Given the description of an element on the screen output the (x, y) to click on. 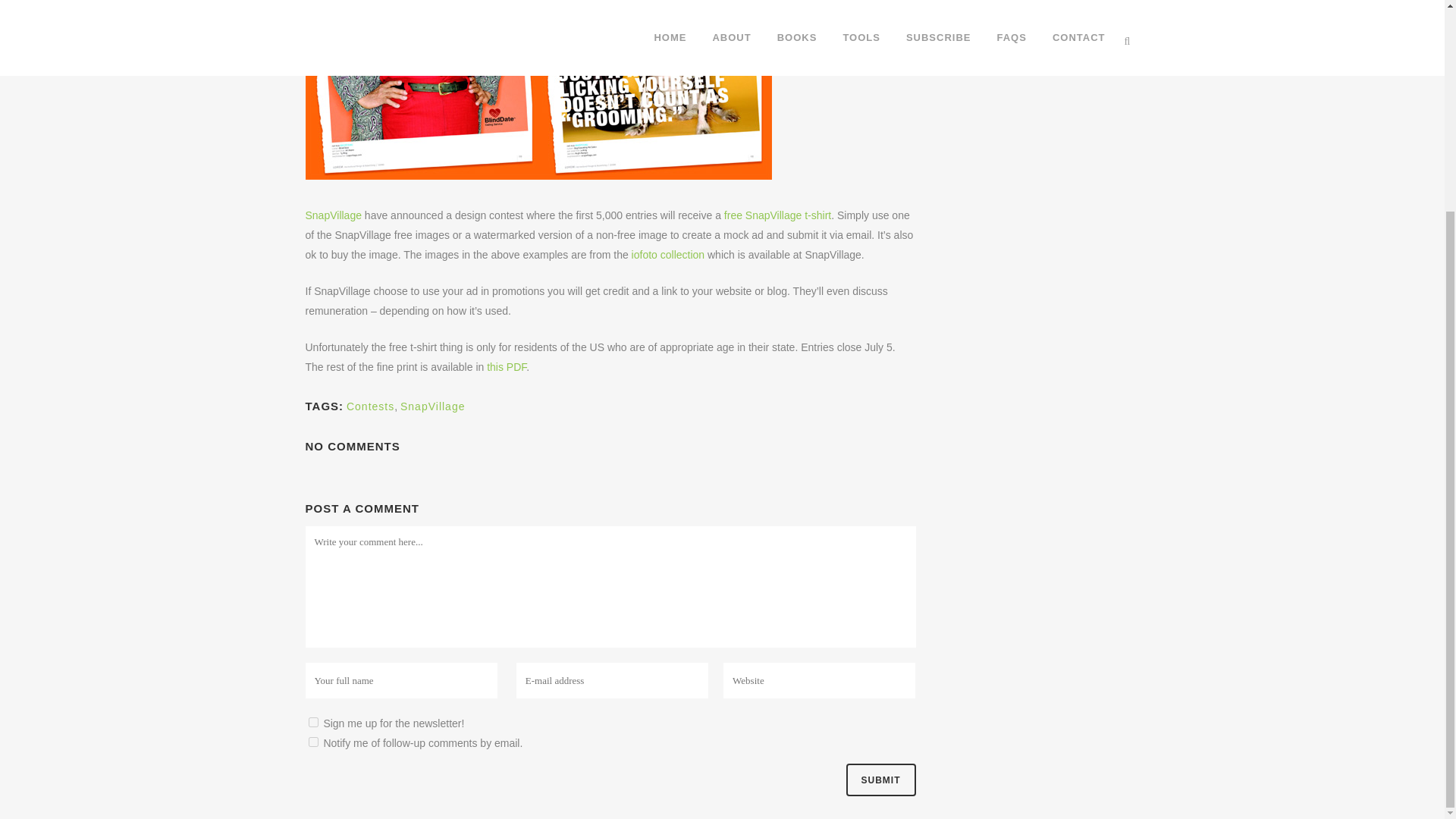
Submit (880, 779)
SnapVillage (432, 406)
Contests (370, 406)
SnapVillage Design Contest (537, 89)
Submit (880, 779)
SnapVillage (332, 215)
1 (312, 722)
subscribe (312, 741)
this PDF (505, 367)
iofoto collection (667, 254)
